Given the description of an element on the screen output the (x, y) to click on. 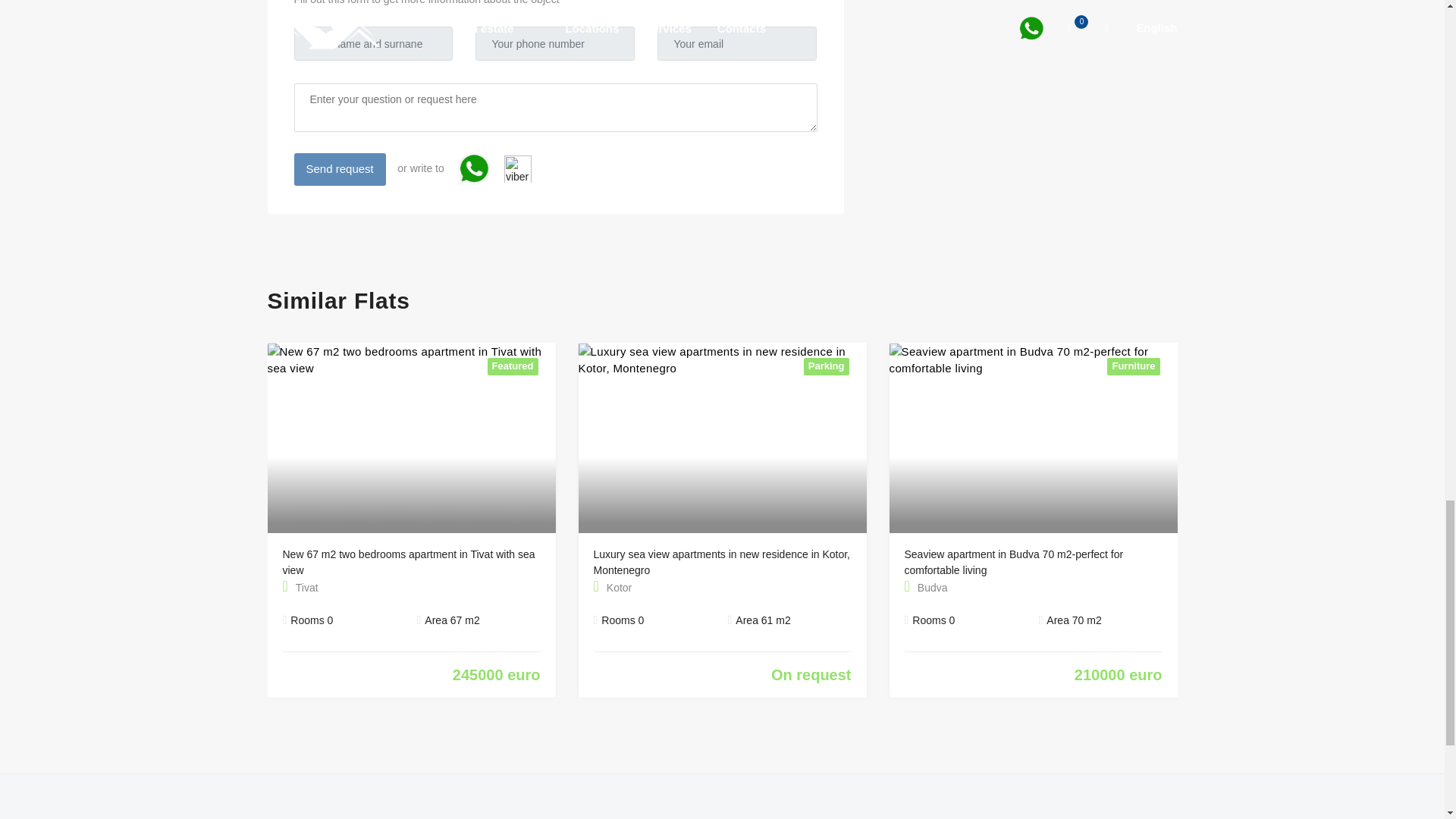
Send request (339, 169)
